Given the description of an element on the screen output the (x, y) to click on. 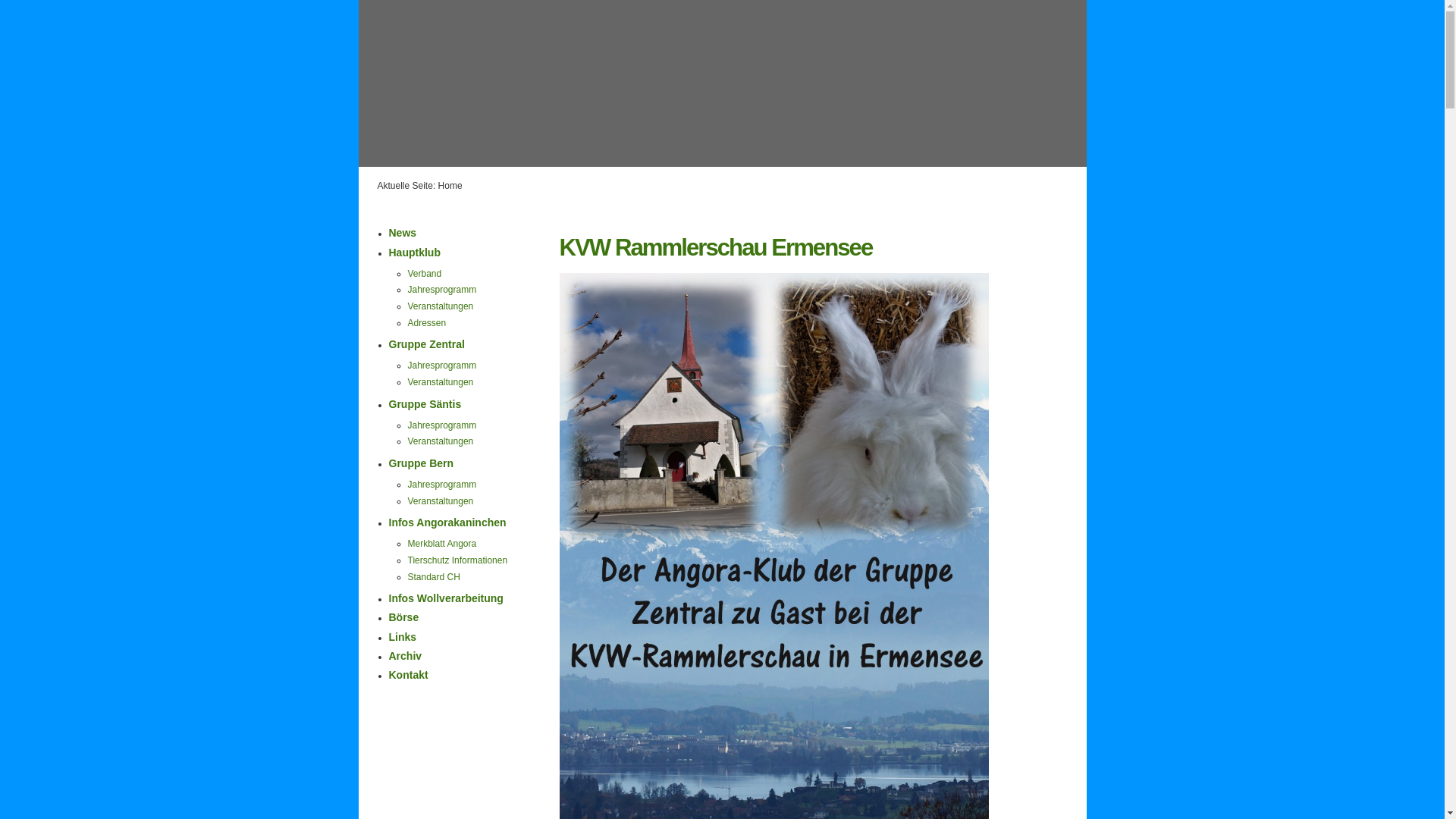
Standard CH Element type: text (433, 576)
Kontakt Element type: text (407, 674)
Infos Angorakaninchen Element type: text (446, 522)
Veranstaltungen Element type: text (440, 500)
Merkblatt Angora Element type: text (441, 543)
Hauptklub Element type: text (413, 252)
Gruppe Bern Element type: text (420, 463)
Archiv Element type: text (404, 655)
Jahresprogramm Element type: text (441, 484)
Gruppe Zentral Element type: text (426, 344)
News Element type: text (402, 232)
Jahresprogramm Element type: text (441, 289)
Veranstaltungen Element type: text (440, 441)
KVW Rammlerschau Ermensee Element type: text (715, 247)
Infos Wollverarbeitung Element type: text (445, 598)
Links Element type: text (402, 636)
Veranstaltungen Element type: text (440, 306)
Veranstaltungen Element type: text (440, 381)
Adressen Element type: text (426, 322)
Jahresprogramm Element type: text (441, 365)
Verband Element type: text (424, 273)
Jahresprogramm Element type: text (441, 425)
Tierschutz Informationen Element type: text (457, 560)
